Given the description of an element on the screen output the (x, y) to click on. 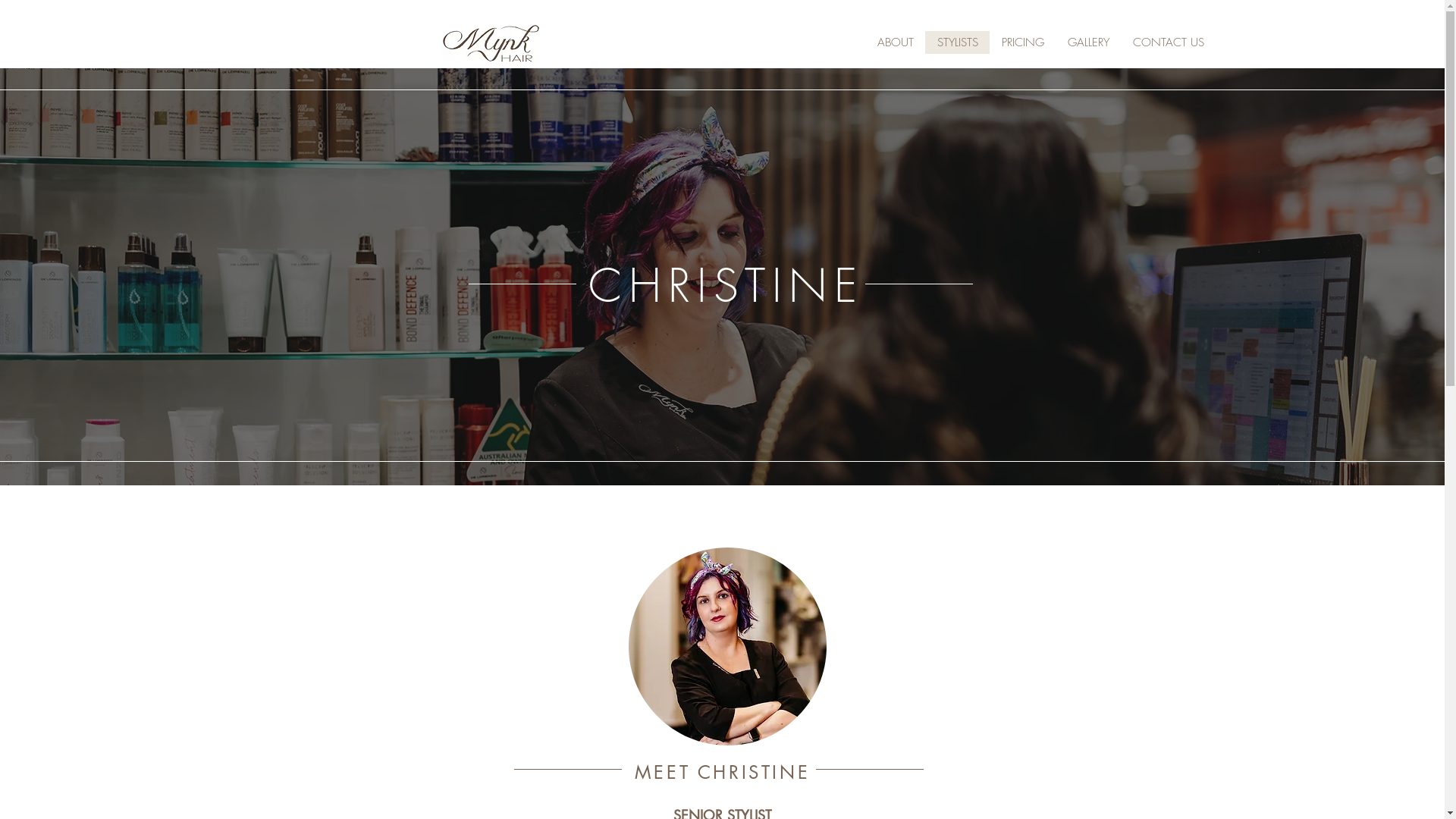
STYLISTS Element type: text (957, 42)
ABOUT Element type: text (895, 42)
IMG_7227.jpg Element type: hover (726, 646)
CONTACT US Element type: text (1167, 42)
GALLERY Element type: text (1087, 42)
PRICING Element type: text (1022, 42)
